Given the description of an element on the screen output the (x, y) to click on. 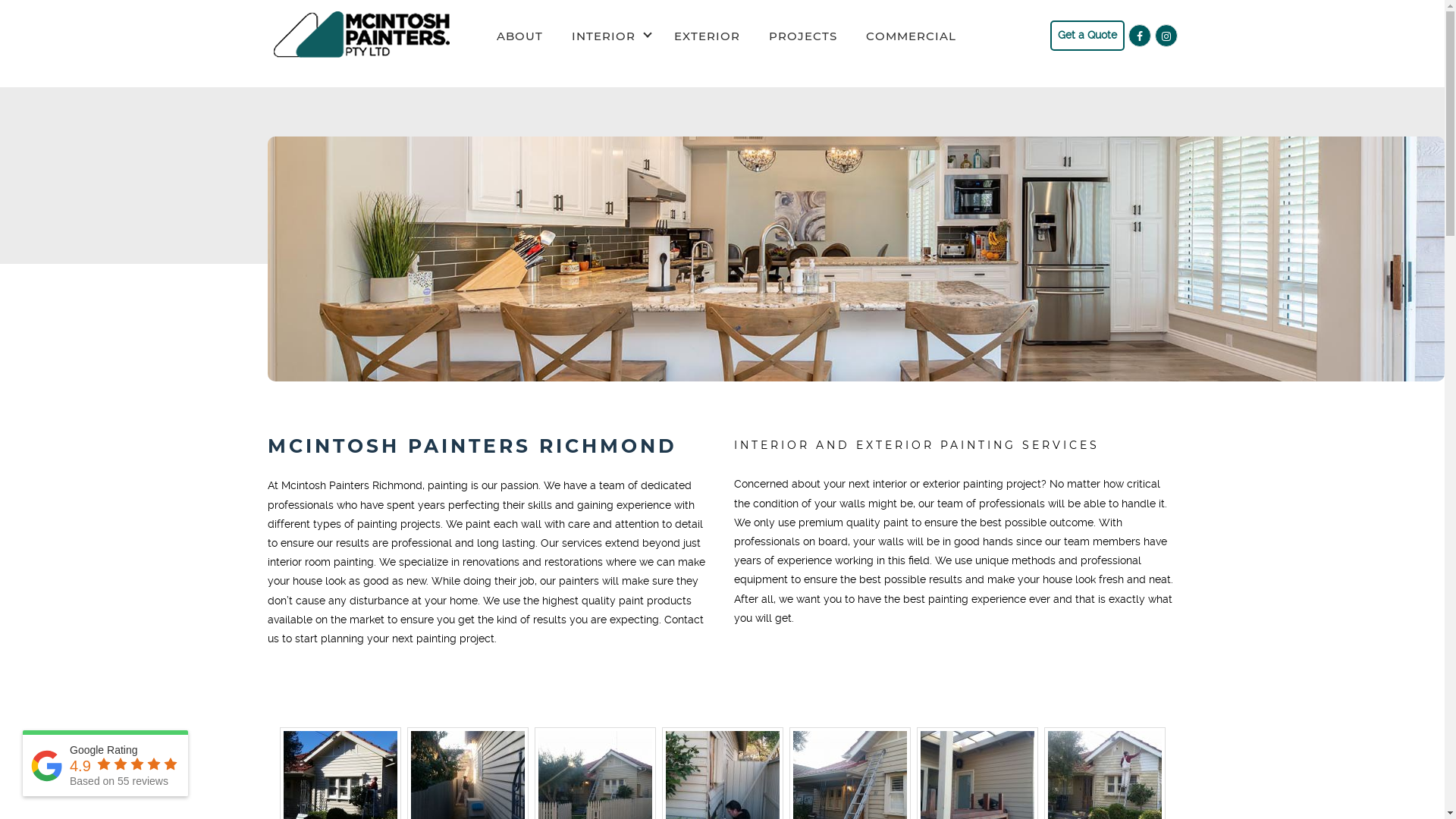
EXTERIOR Element type: text (707, 35)
COMMERCIAL Element type: text (910, 35)
HOUSE PAINTERS MELBOURNE Element type: text (363, 35)
Get a Quote Element type: text (1086, 35)
INTERIOR Element type: text (603, 35)
ABOUT Element type: text (519, 35)
PROJECTS Element type: text (802, 35)
